Given the description of an element on the screen output the (x, y) to click on. 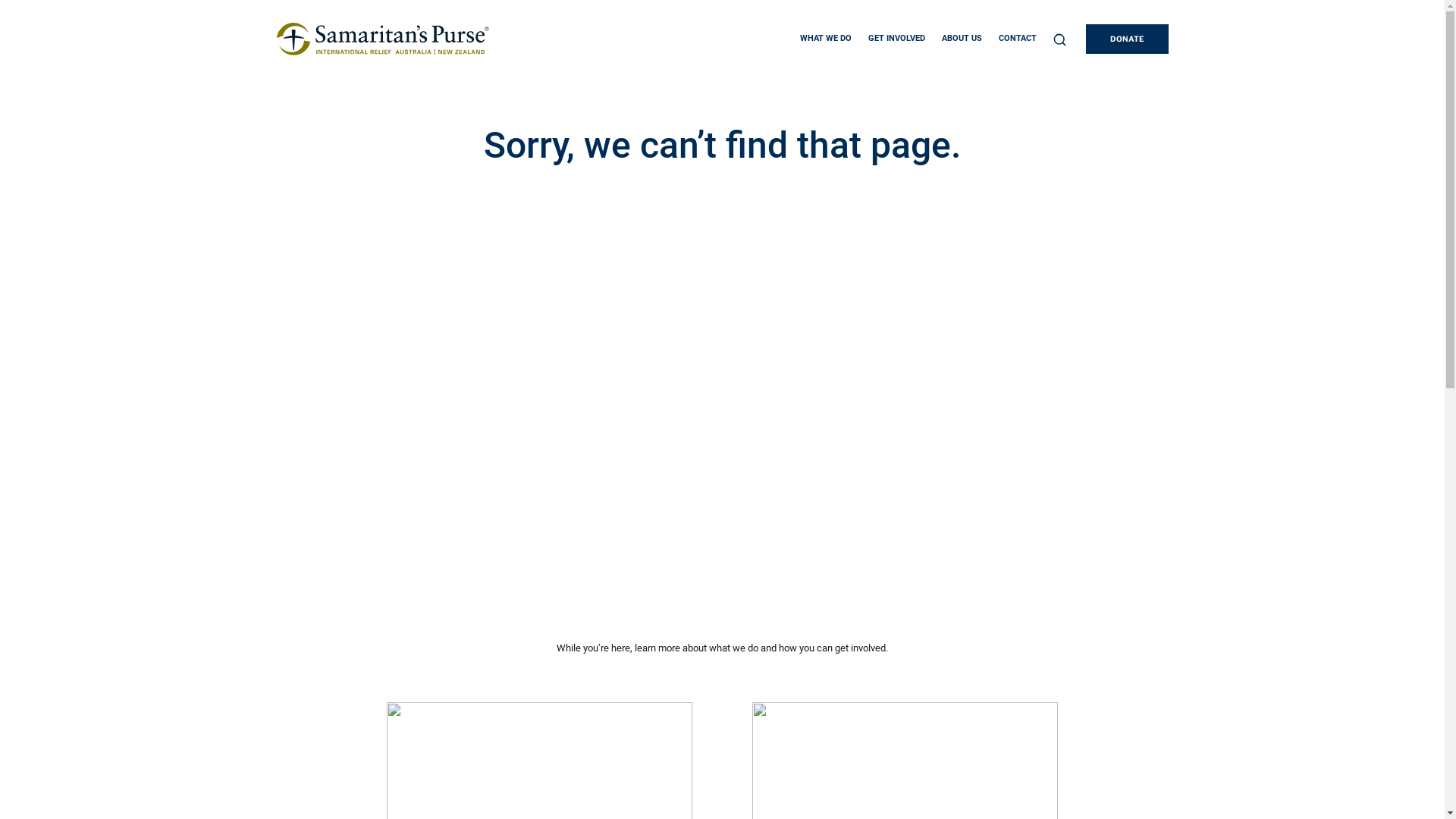
CONTACT Element type: text (1016, 38)
DONATE Element type: text (1126, 38)
ABOUT US Element type: text (961, 38)
WHAT WE DO Element type: text (824, 38)
GET INVOLVED Element type: text (895, 38)
